Given the description of an element on the screen output the (x, y) to click on. 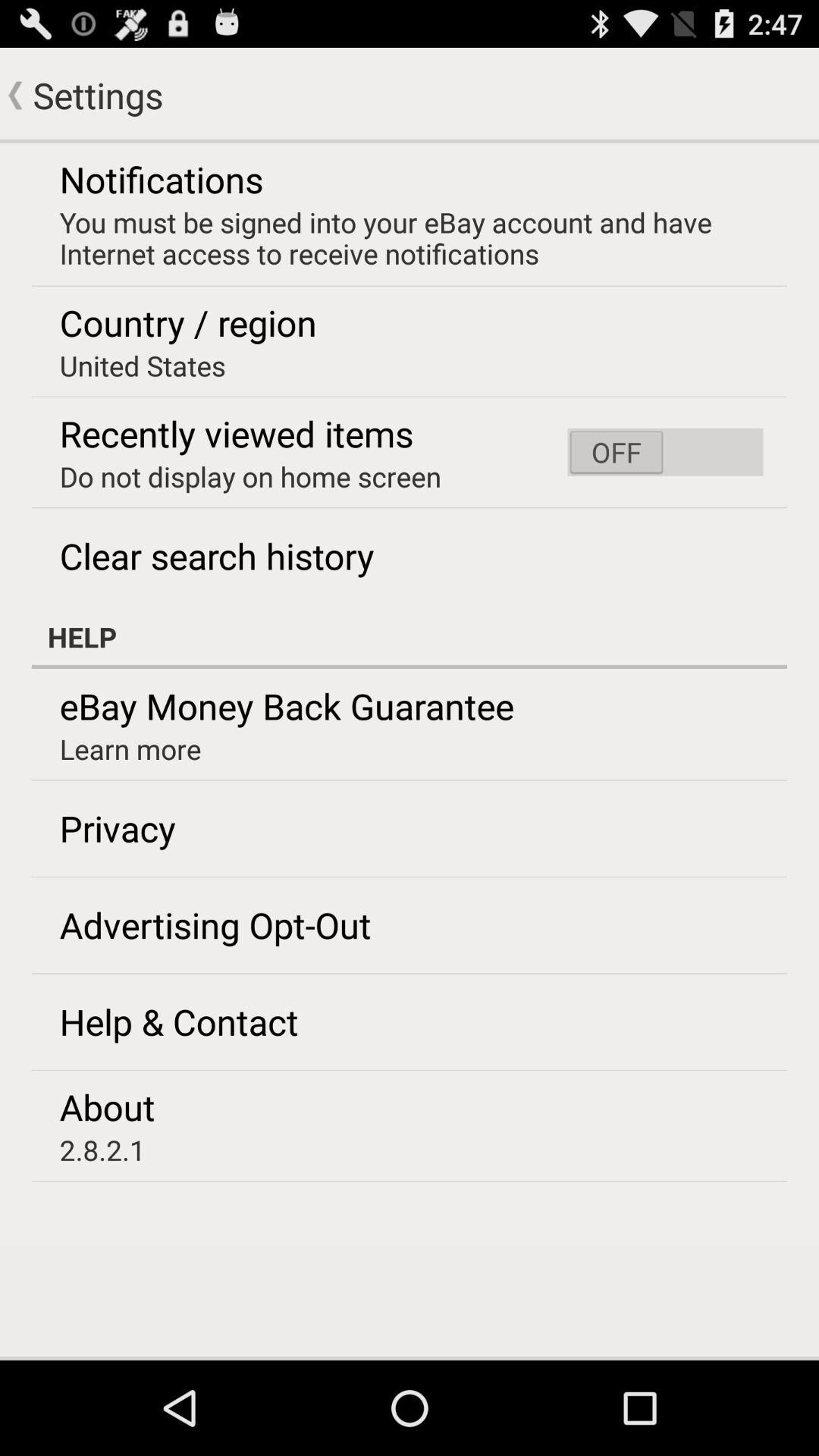
tap the icon at the top right corner (665, 451)
